Given the description of an element on the screen output the (x, y) to click on. 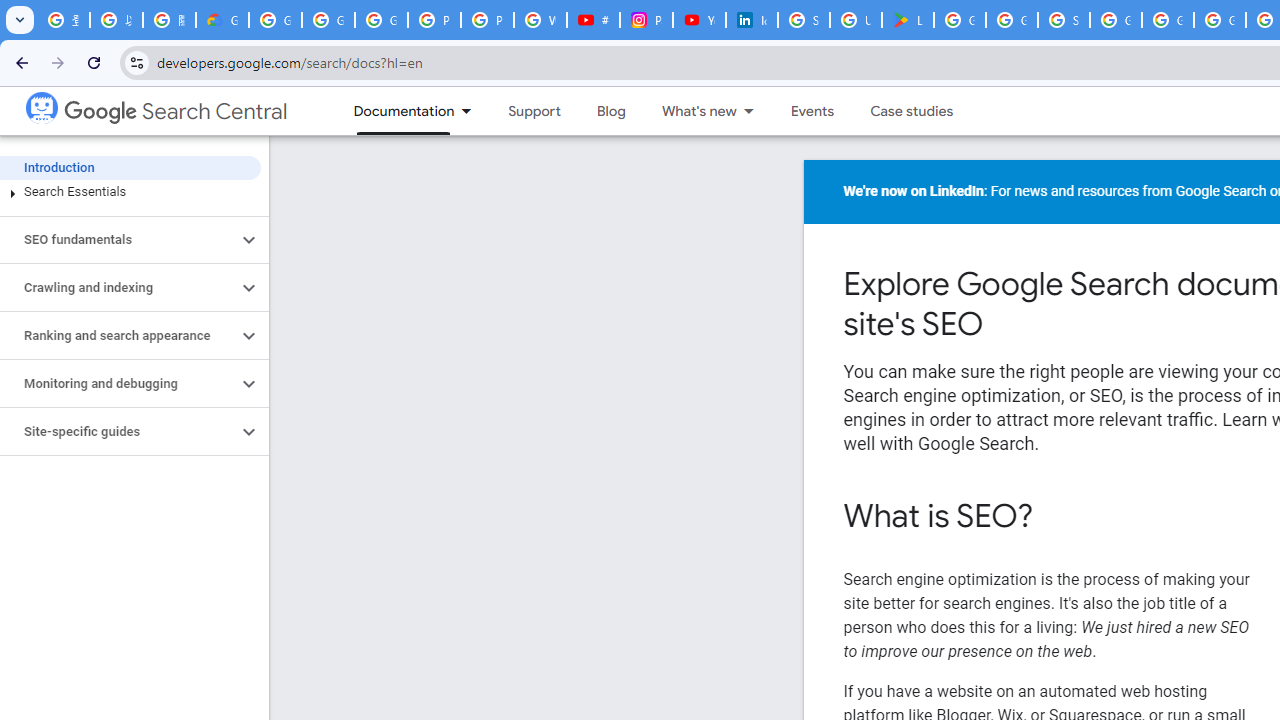
Google Search Central (176, 111)
